Given the description of an element on the screen output the (x, y) to click on. 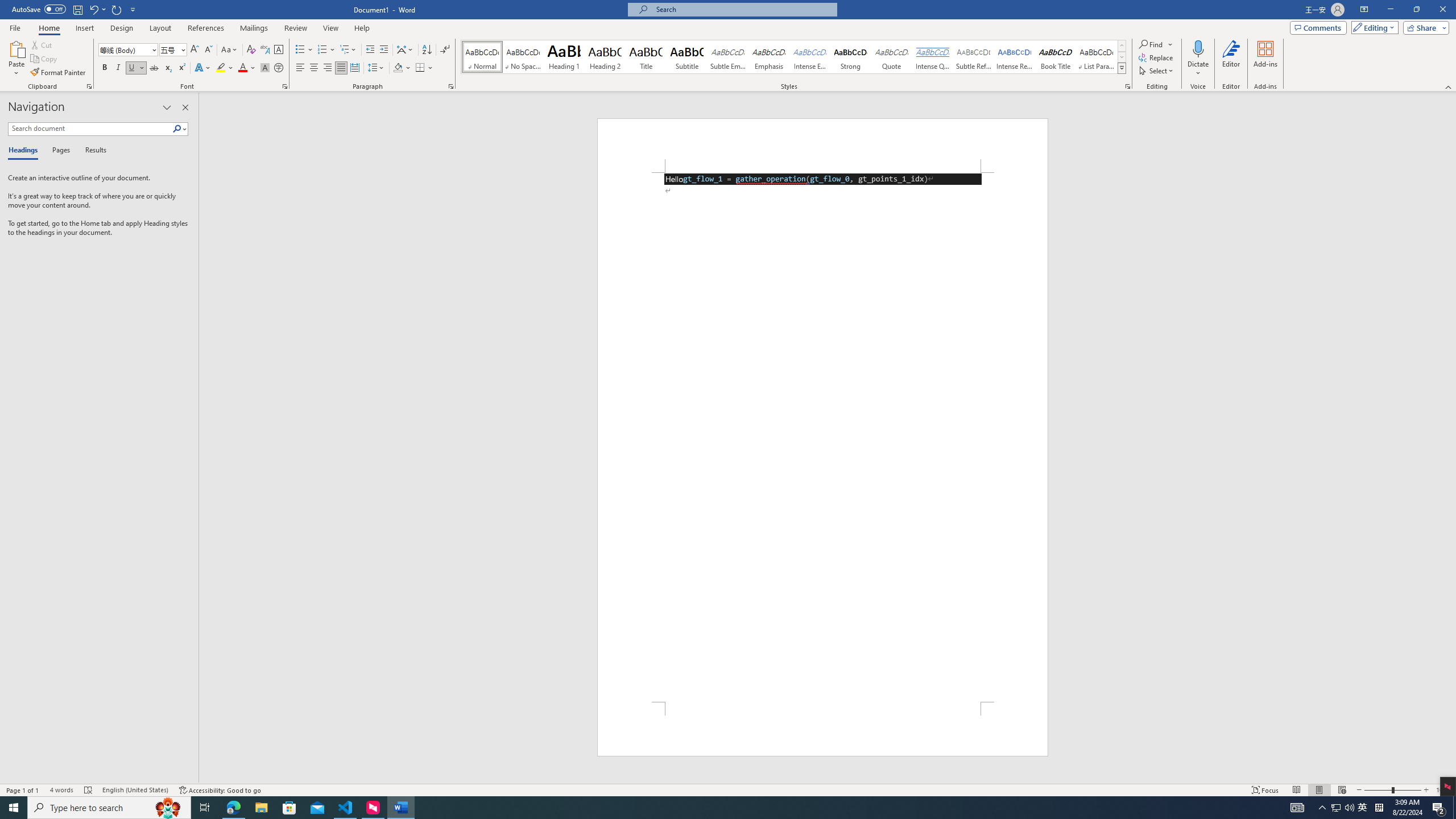
Intense Emphasis (809, 56)
Copy (45, 58)
Repeat Underline Style (117, 9)
Change Case (229, 49)
Format Painter (58, 72)
Language English (United States) (135, 790)
Page 1 content (822, 436)
Line and Paragraph Spacing (376, 67)
